Given the description of an element on the screen output the (x, y) to click on. 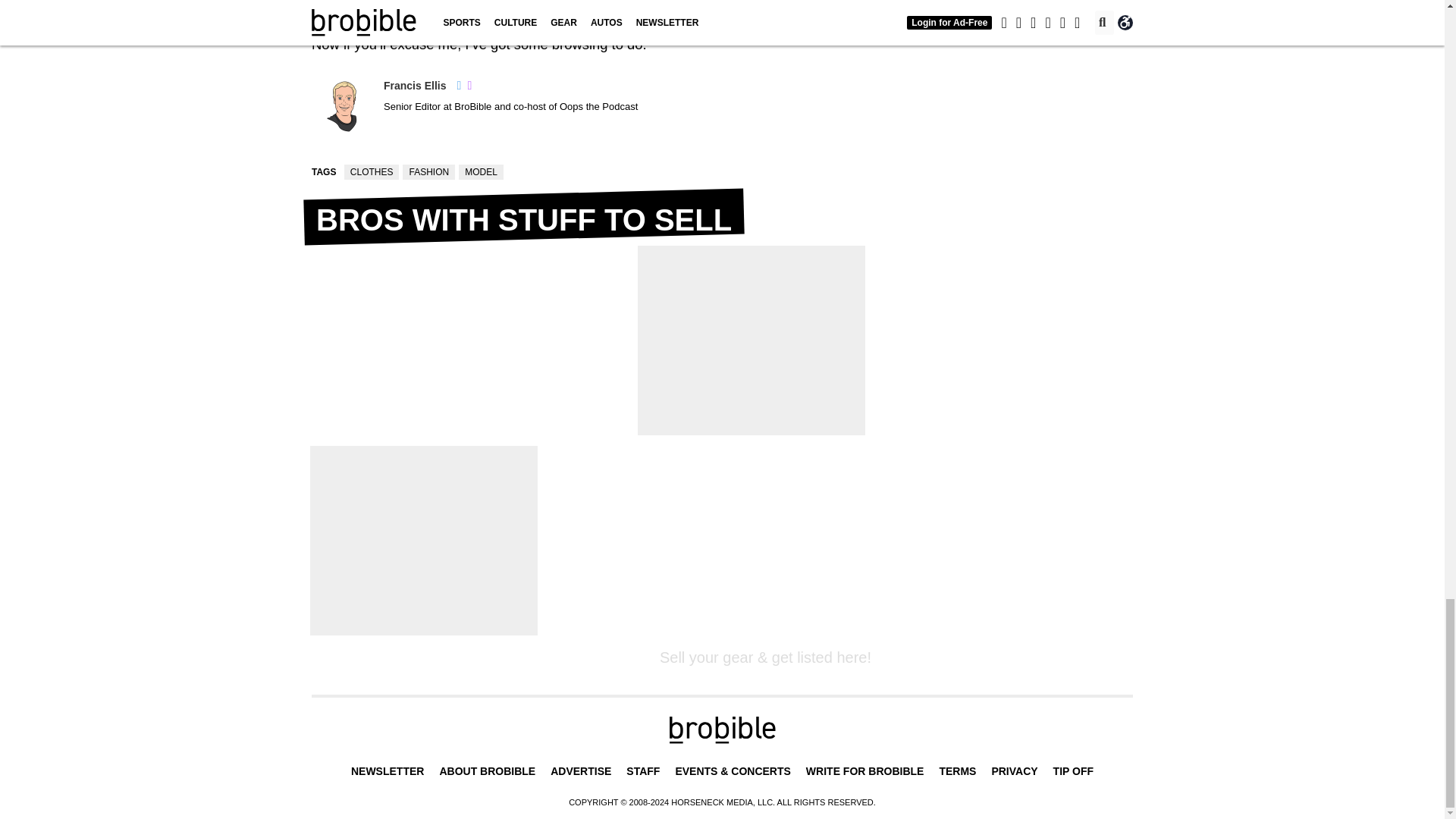
Posts by Francis Ellis (414, 85)
